Given the description of an element on the screen output the (x, y) to click on. 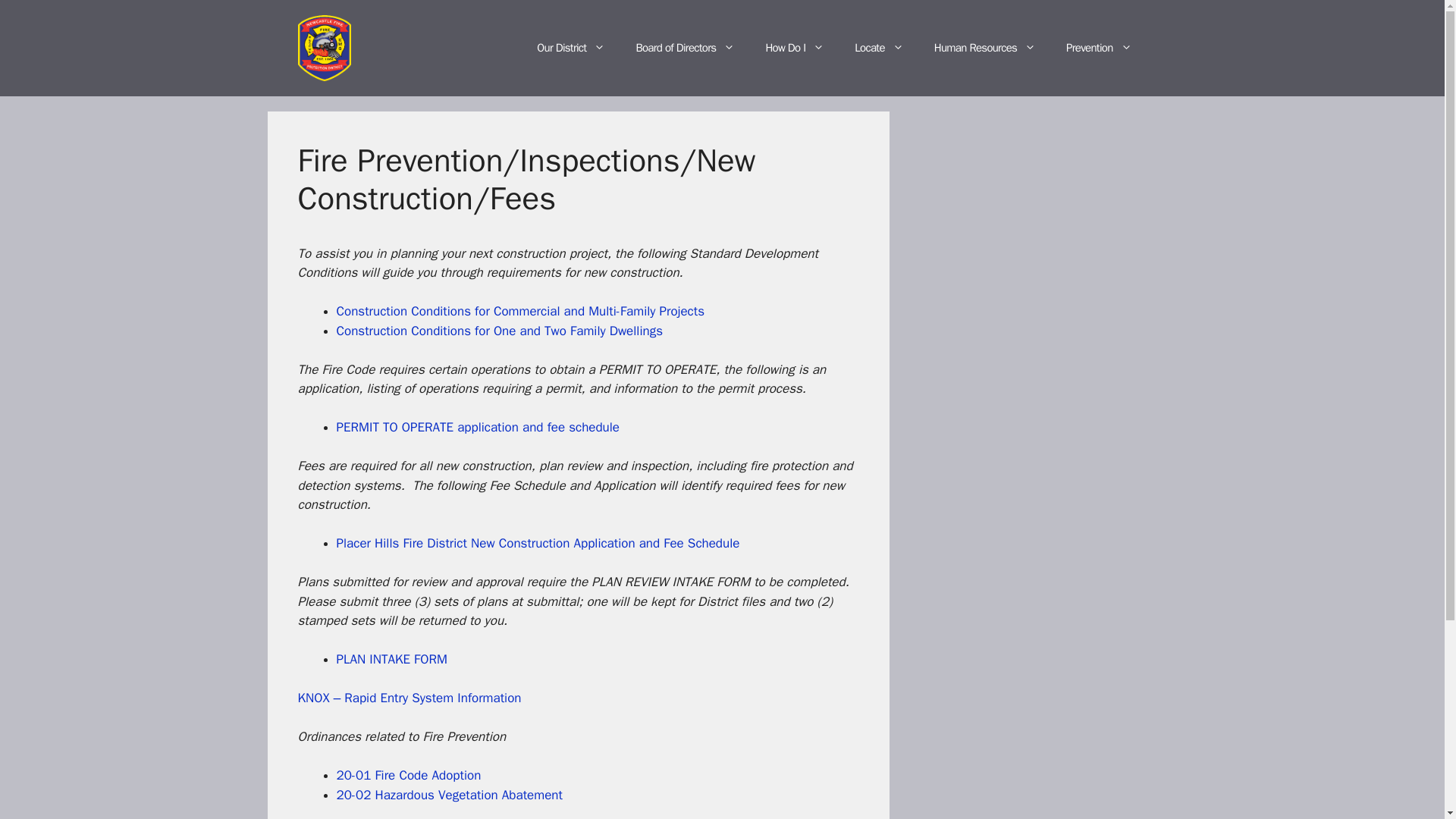
Human Resources (984, 47)
Locate (879, 47)
Our District (570, 47)
How Do I (794, 47)
Board of Directors (684, 47)
